Given the description of an element on the screen output the (x, y) to click on. 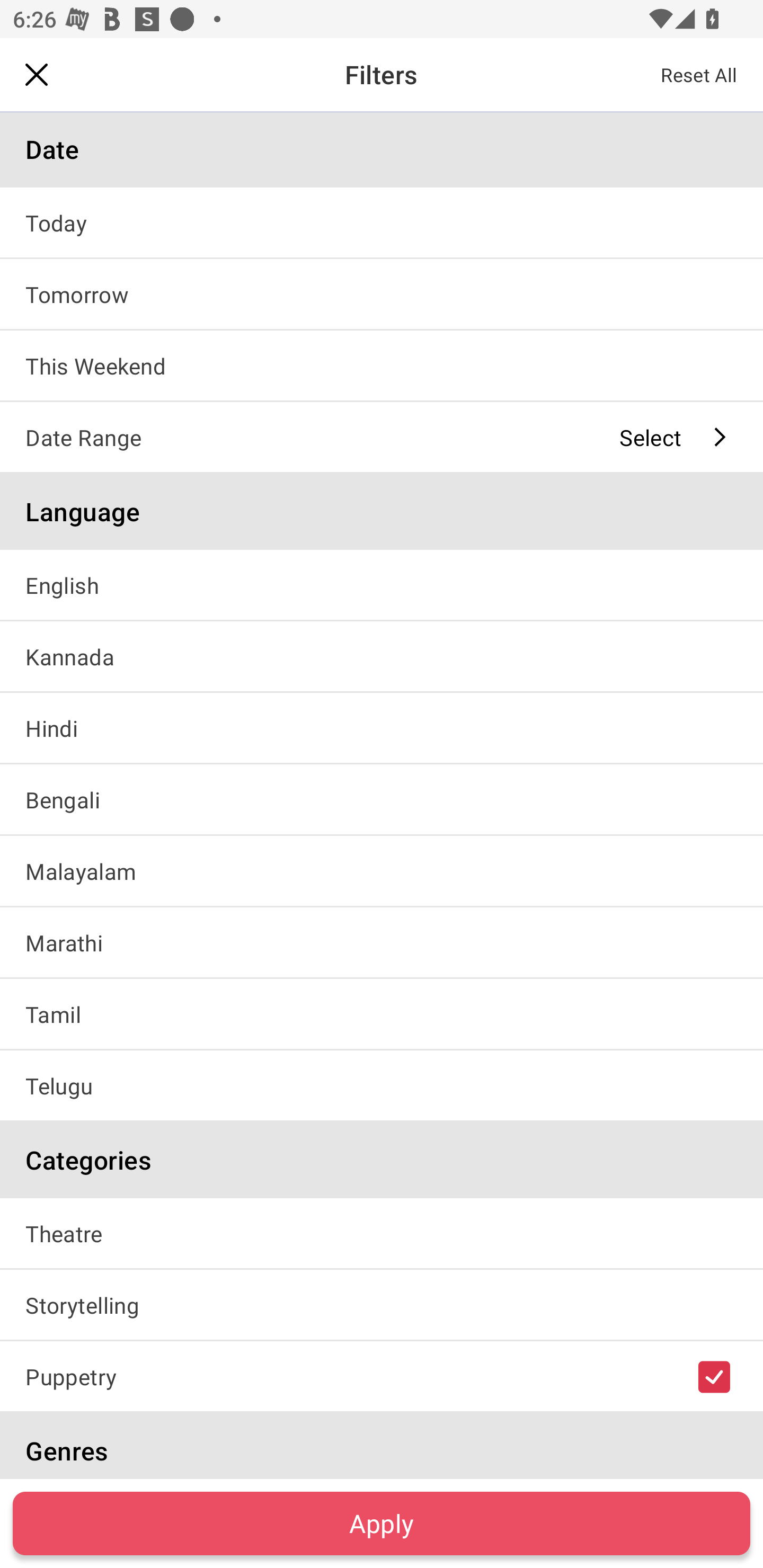
Close (36, 74)
Reset All (699, 74)
Today (381, 222)
Tomorrow (381, 293)
This Weekend (381, 364)
Date Range Select  Next (381, 436)
English (381, 584)
Kannada (381, 655)
Hindi (381, 727)
Bengali (381, 799)
Malayalam (381, 870)
Marathi (381, 941)
Tamil (381, 1013)
Telugu (381, 1085)
Theatre (381, 1232)
Storytelling (381, 1304)
Puppetry  (381, 1375)
Apply (381, 1523)
